Given the description of an element on the screen output the (x, y) to click on. 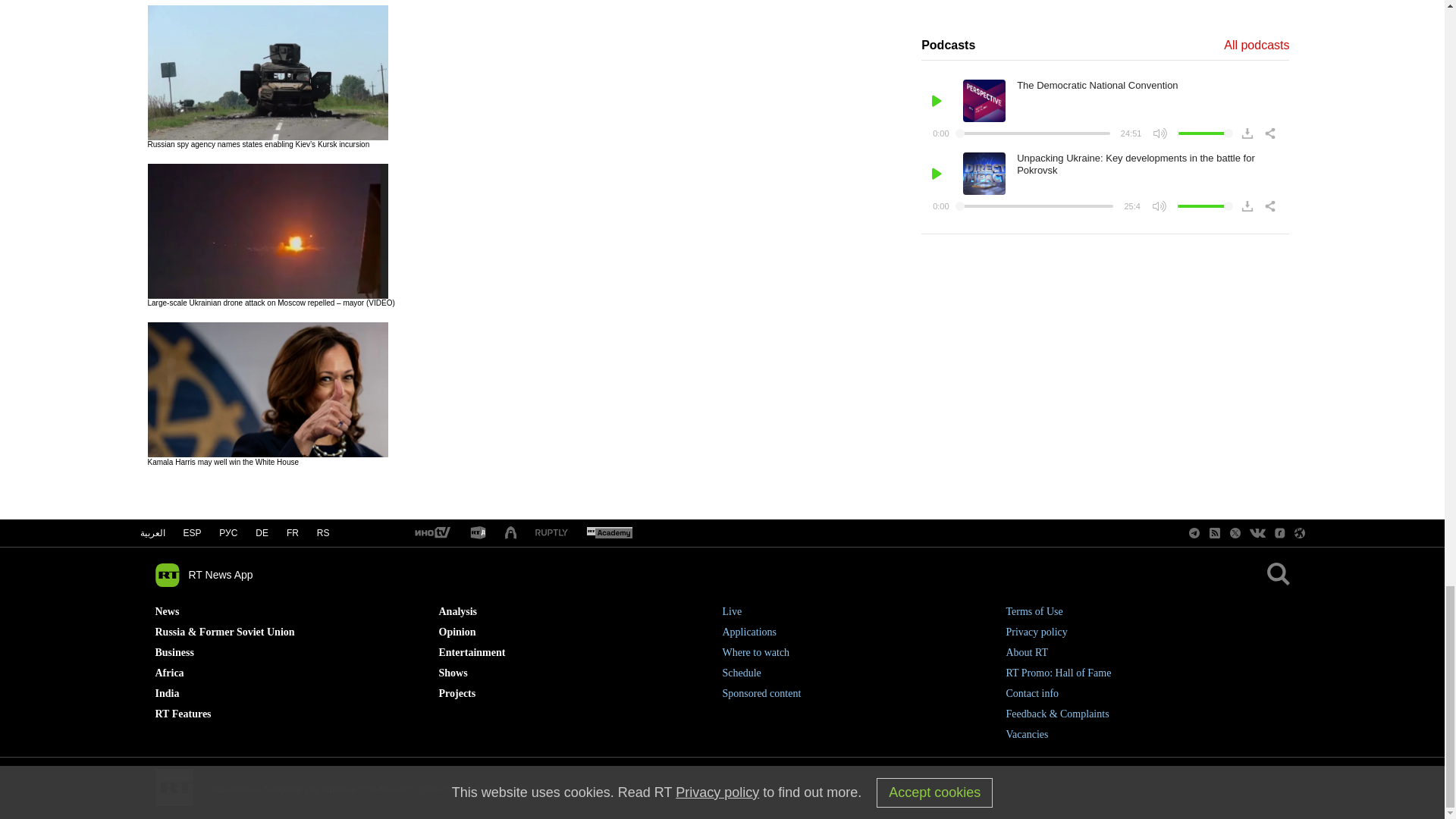
RT  (551, 533)
RT  (431, 533)
RT  (608, 533)
RT  (478, 533)
